Given the description of an element on the screen output the (x, y) to click on. 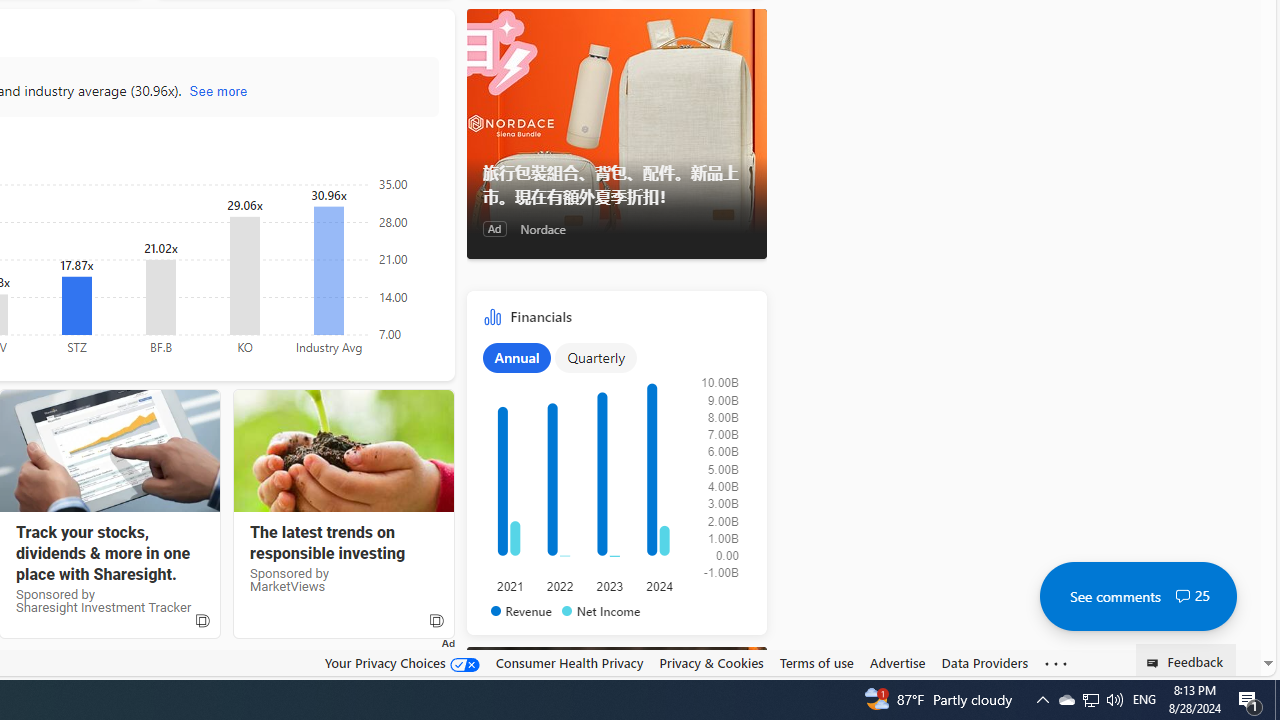
Terms of use (816, 662)
Financials (616, 468)
Your Privacy Choices (401, 662)
Consumer Health Privacy (569, 662)
Consumer Health Privacy (569, 663)
See comments 25 (1137, 596)
Class: chartOuter-DS-EntryPoint1-1 (612, 479)
Privacy & Cookies (711, 663)
Annual (516, 357)
Terms of use (816, 663)
